Given the description of an element on the screen output the (x, y) to click on. 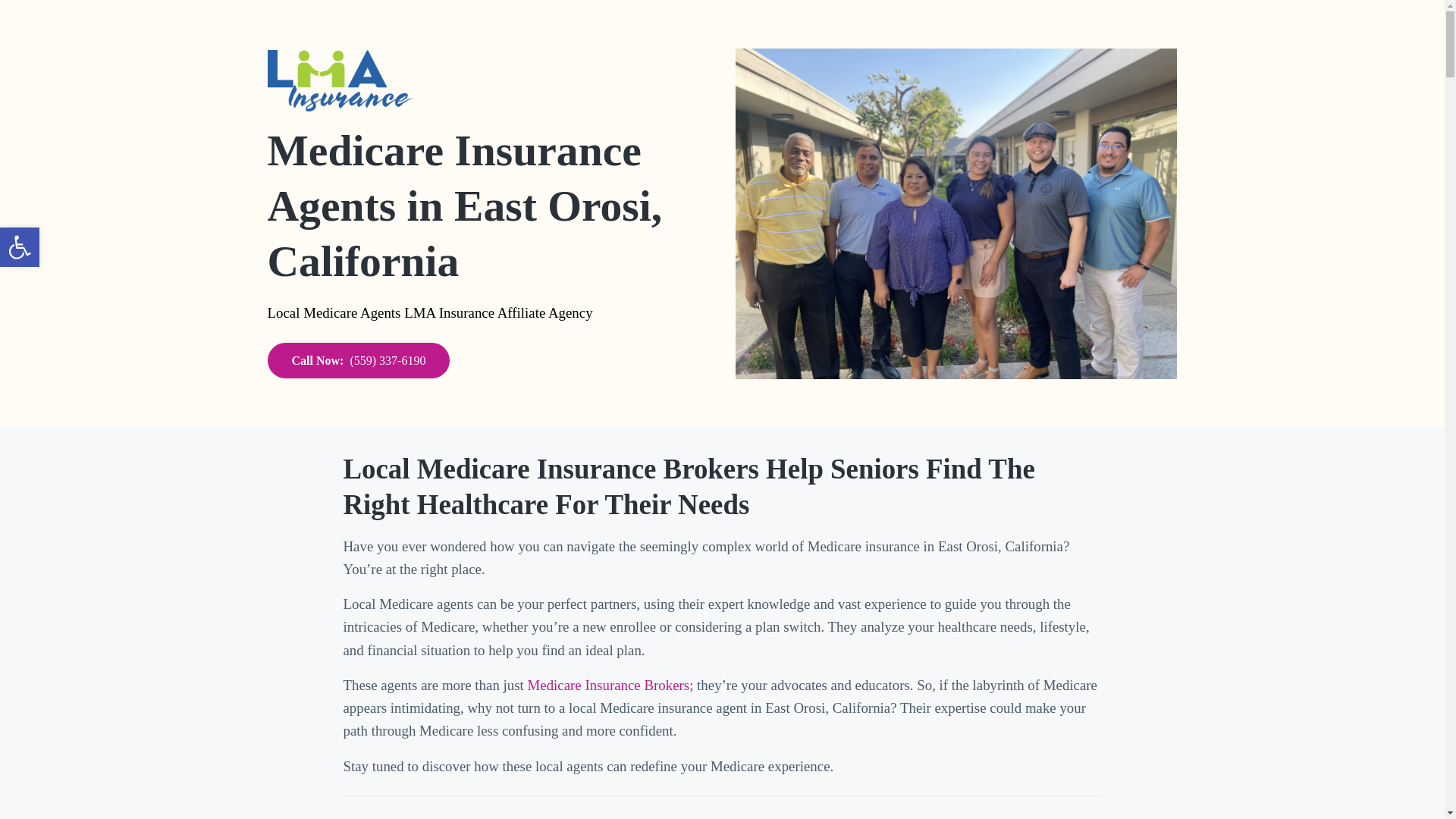
Medicare Insurance Brokers (608, 684)
Accessibility Tools (19, 247)
